Given the description of an element on the screen output the (x, y) to click on. 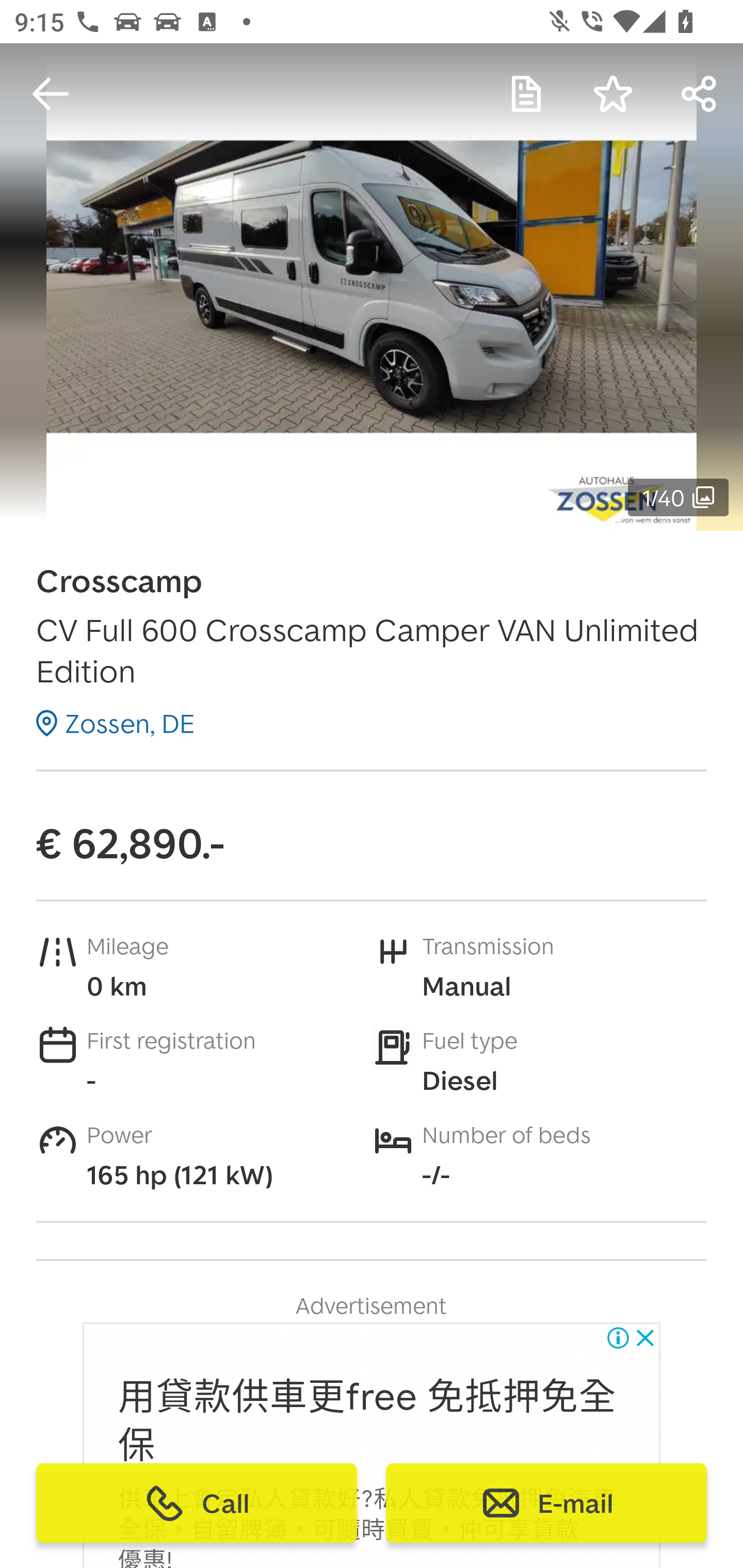
Navigate up (50, 93)
My Notes (525, 93)
Save (612, 93)
Forward (699, 93)
Zossen, DE (115, 722)
用貸款供車更free 免抵押免全 保 用貸款供車更free 免抵押免全 保 (366, 1421)
Call (196, 1502)
E-mail (545, 1502)
